Given the description of an element on the screen output the (x, y) to click on. 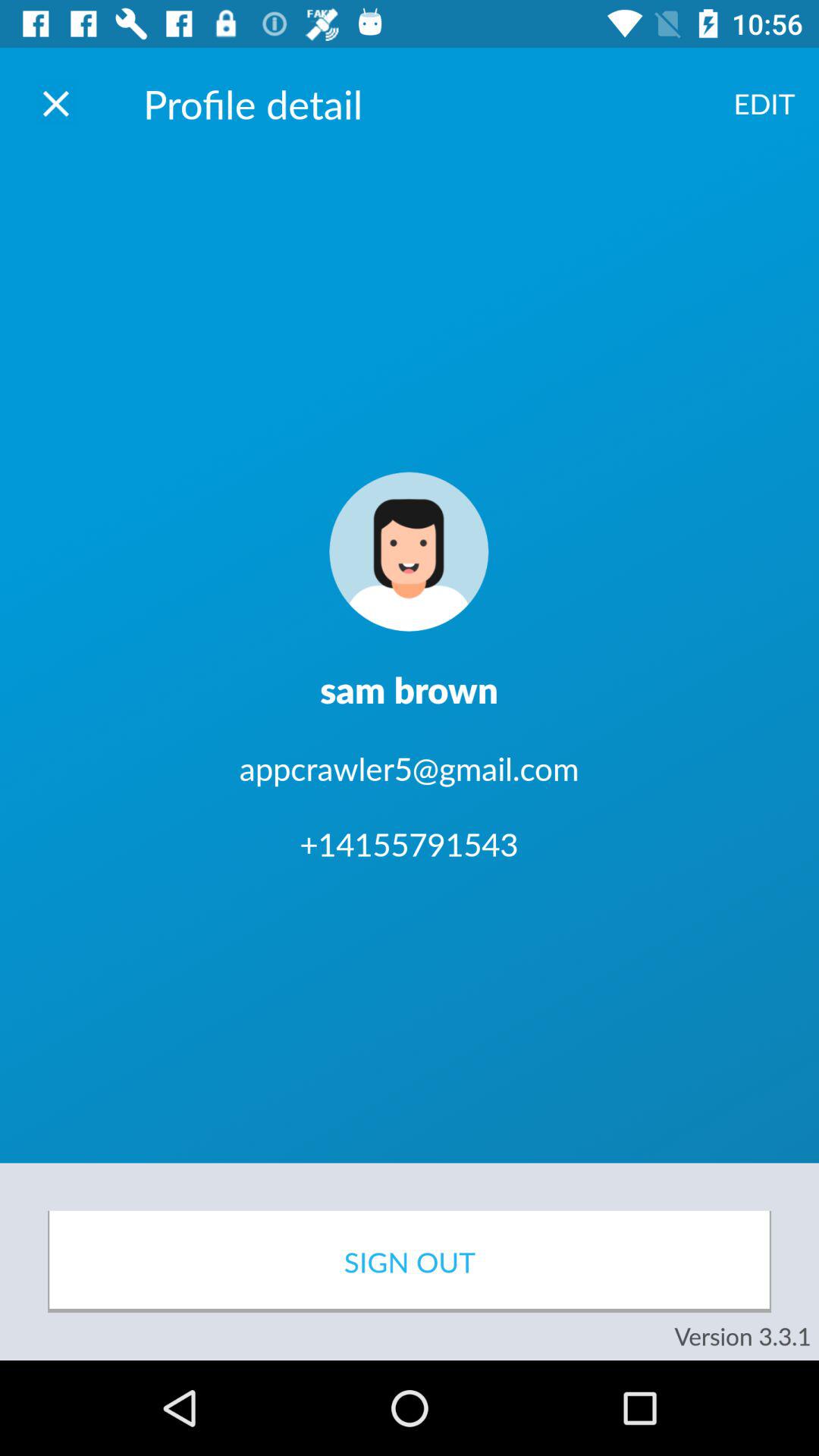
swipe to edit (764, 103)
